Given the description of an element on the screen output the (x, y) to click on. 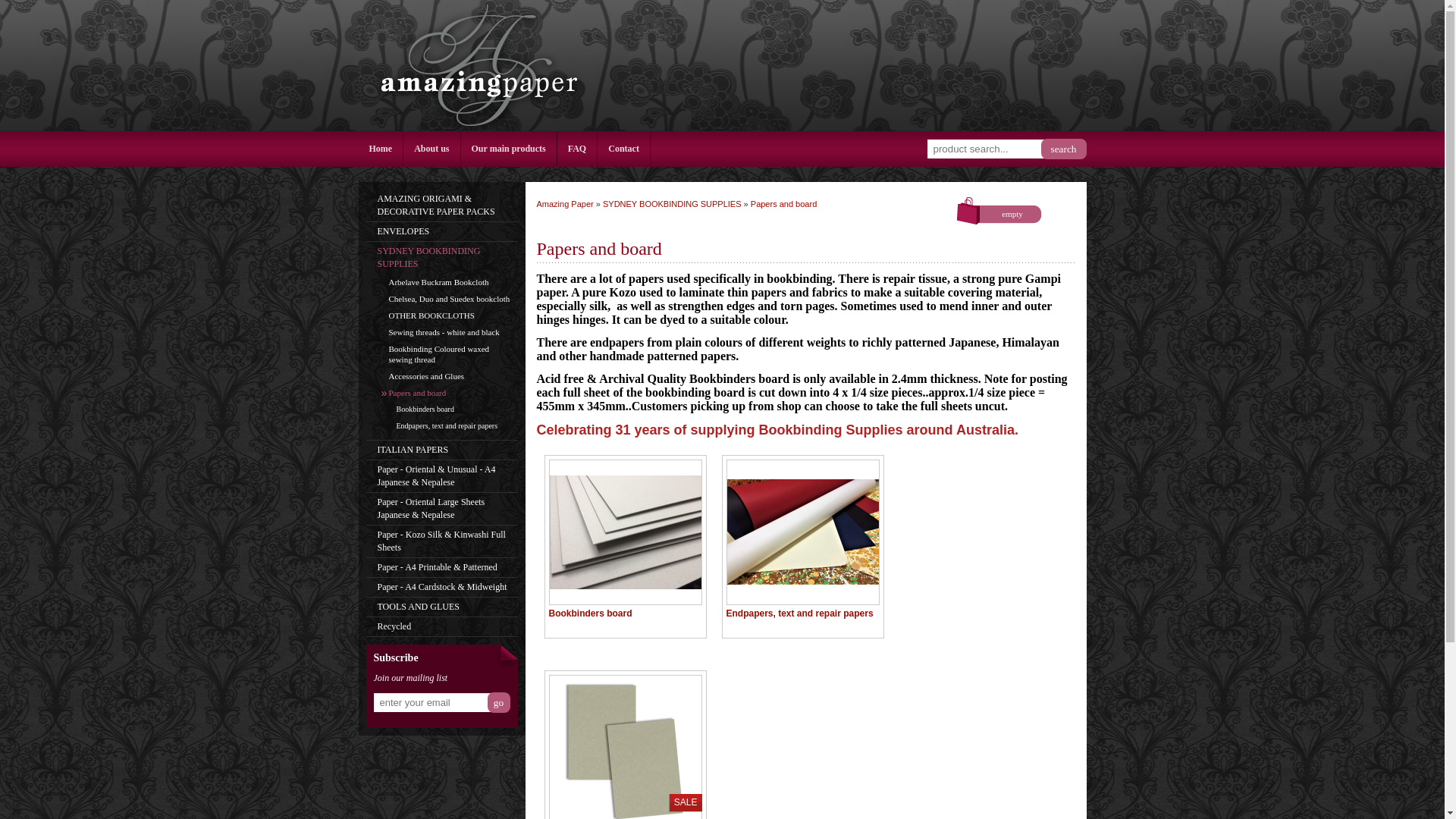
Endpapers, text and repair papers (802, 539)
Amazing Paper (476, 65)
Home (380, 149)
FAQ (576, 149)
Bookbinders board (624, 539)
Our main products (509, 149)
Contact (623, 149)
About us (431, 149)
